Given the description of an element on the screen output the (x, y) to click on. 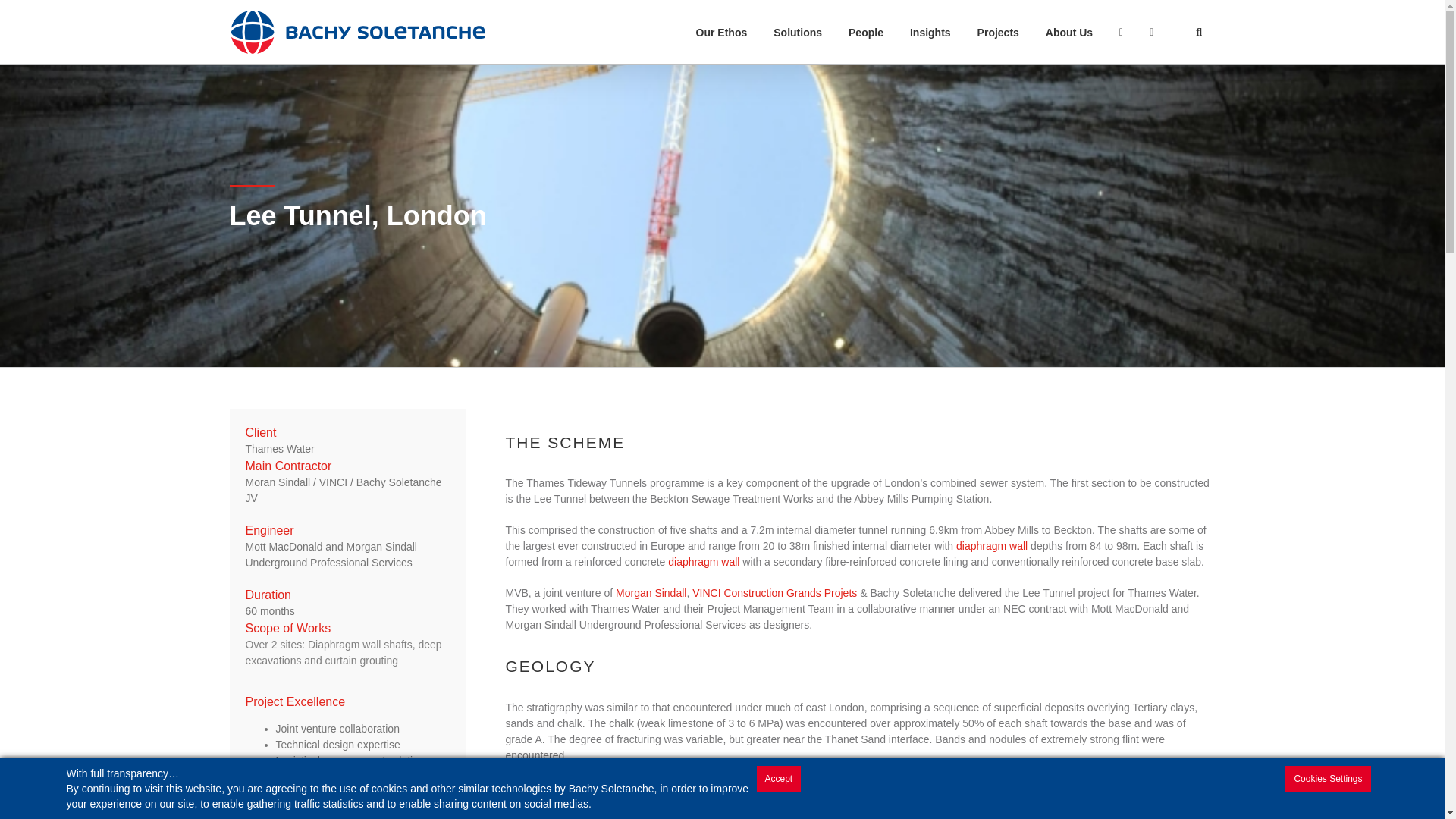
Solutions (797, 32)
Our Ethos (721, 32)
Projects (997, 32)
People (865, 32)
Insights (929, 32)
About Us (1068, 32)
